Given the description of an element on the screen output the (x, y) to click on. 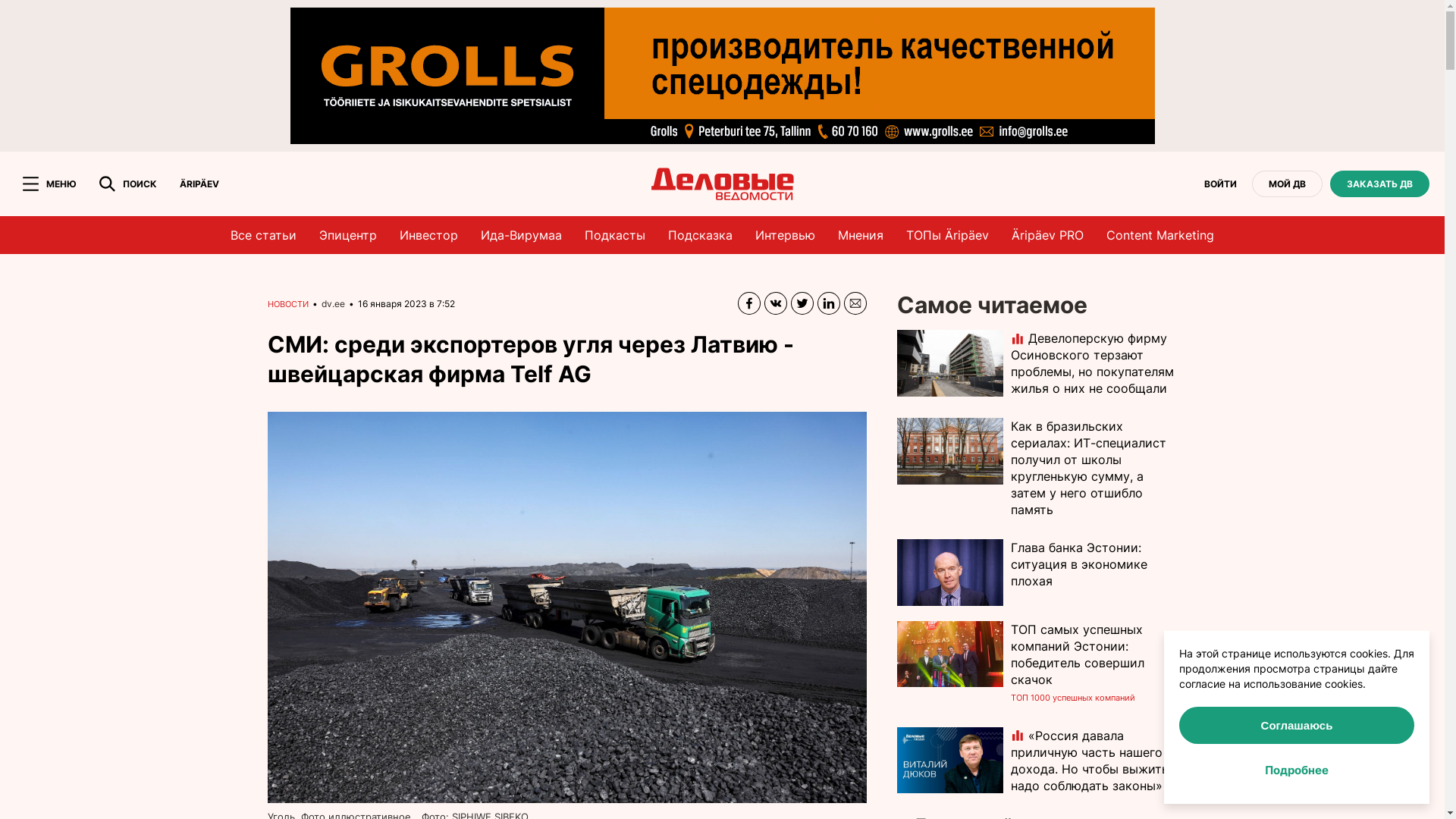
Content Marketing Element type: text (1160, 235)
dv.ee Element type: text (333, 302)
3rd party ad content Element type: hover (721, 75)
